Given the description of an element on the screen output the (x, y) to click on. 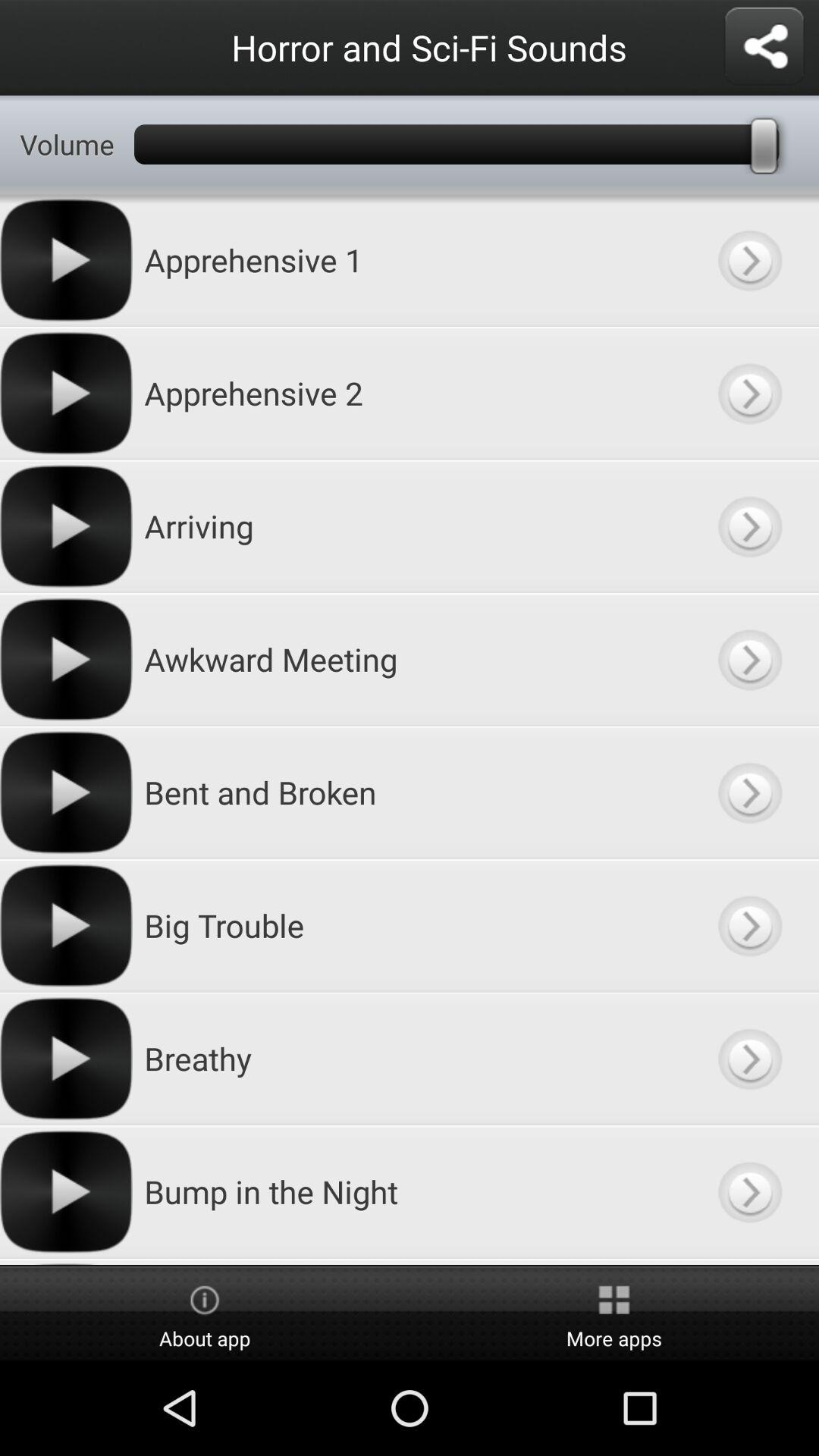
play sound (749, 1191)
